Given the description of an element on the screen output the (x, y) to click on. 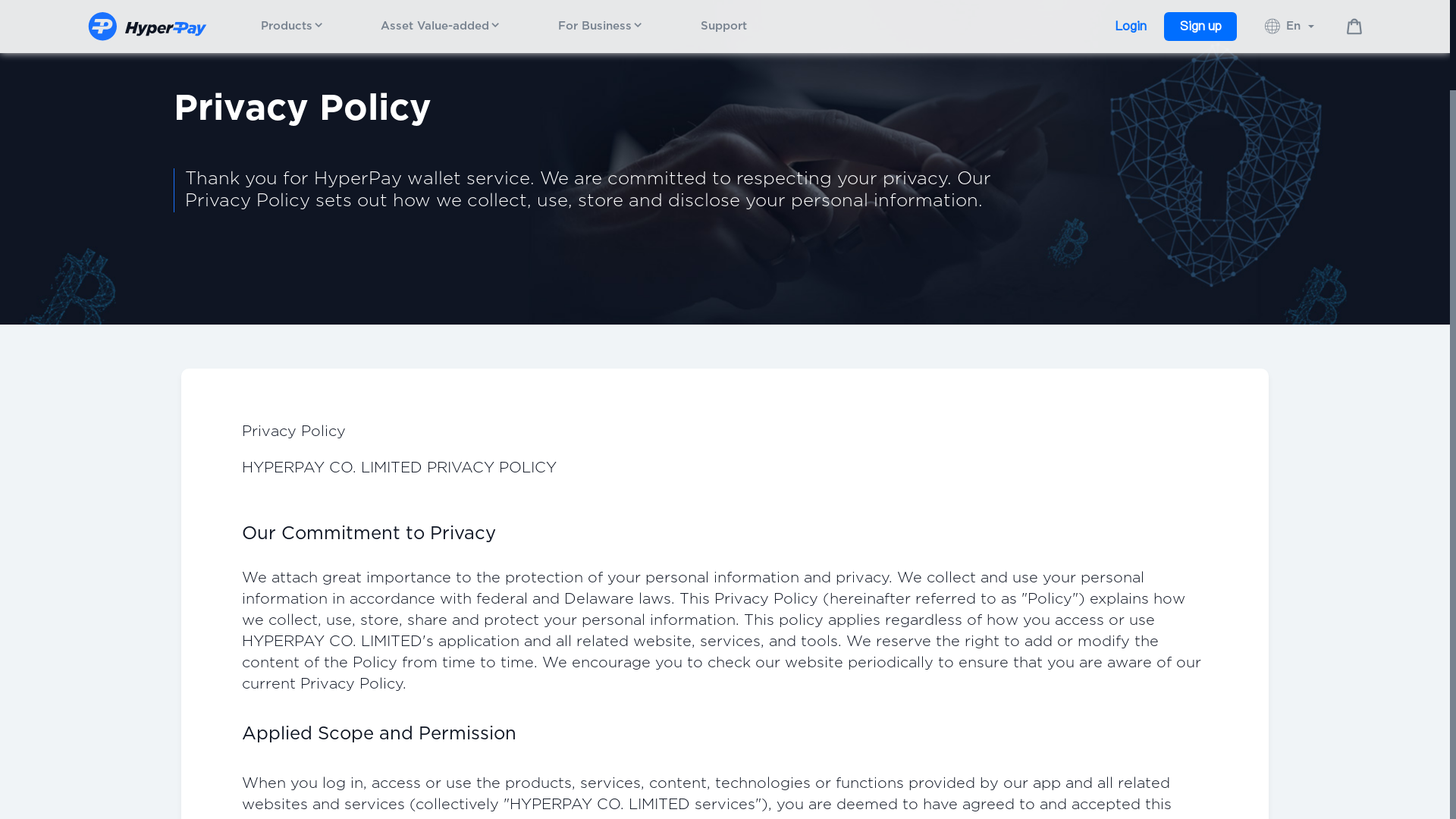
Login Element type: text (1129, 26)
For Business Element type: text (600, 25)
Sign up Element type: text (1200, 26)
Products Element type: text (292, 25)
Asset Value-added Element type: text (440, 25)
Support Element type: text (723, 25)
